Given the description of an element on the screen output the (x, y) to click on. 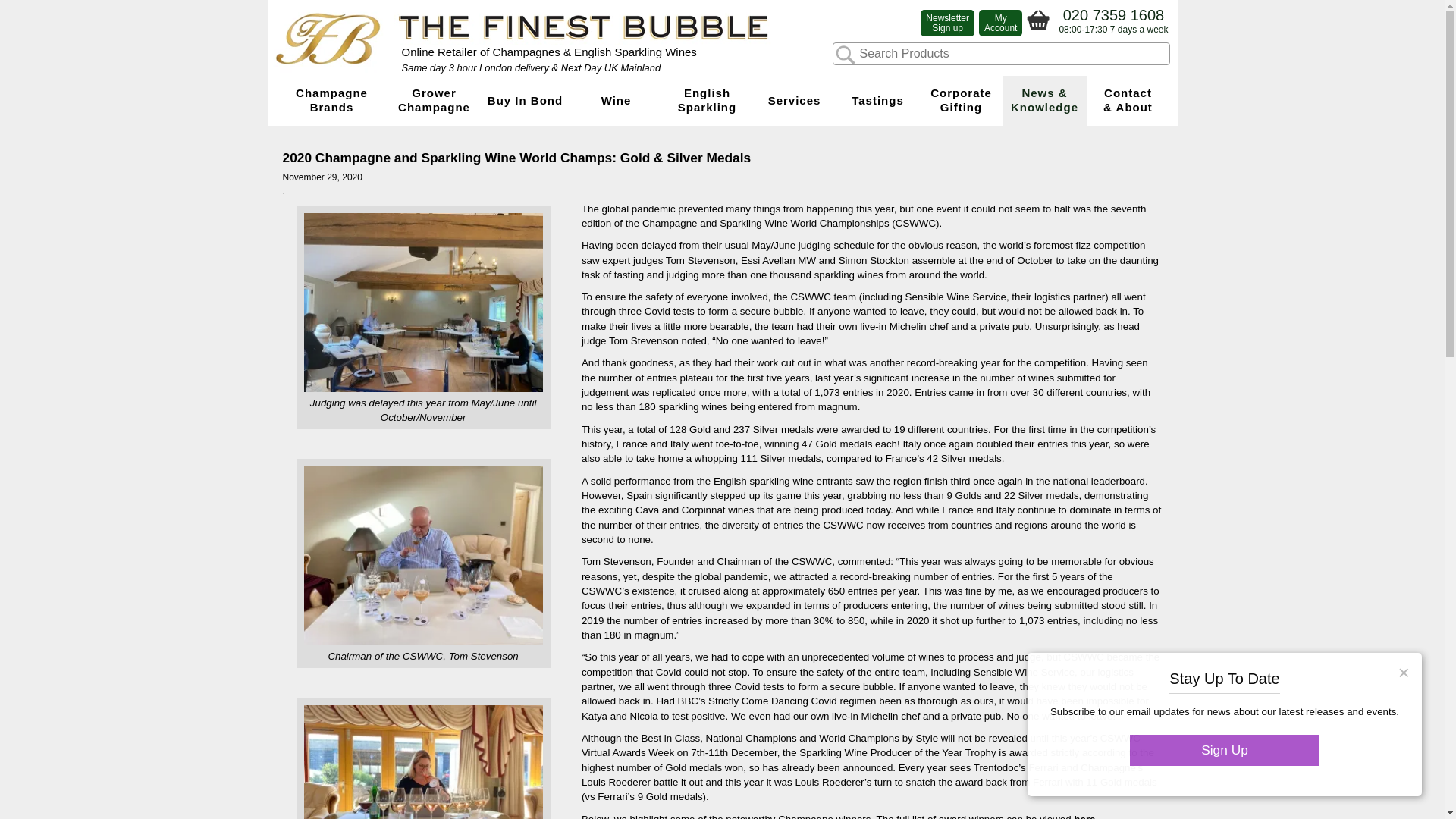
Sign Up (1224, 749)
Buy In Bond (524, 101)
Services (793, 101)
Champagne Tastings (876, 101)
English Sparkling (706, 101)
Newsletter (1000, 23)
Champagne Brands (947, 23)
Grower Champagne (960, 101)
Corporate Gifting Champagne (331, 101)
My Account (433, 101)
Grower Champagne (960, 101)
Wine (947, 23)
